Given the description of an element on the screen output the (x, y) to click on. 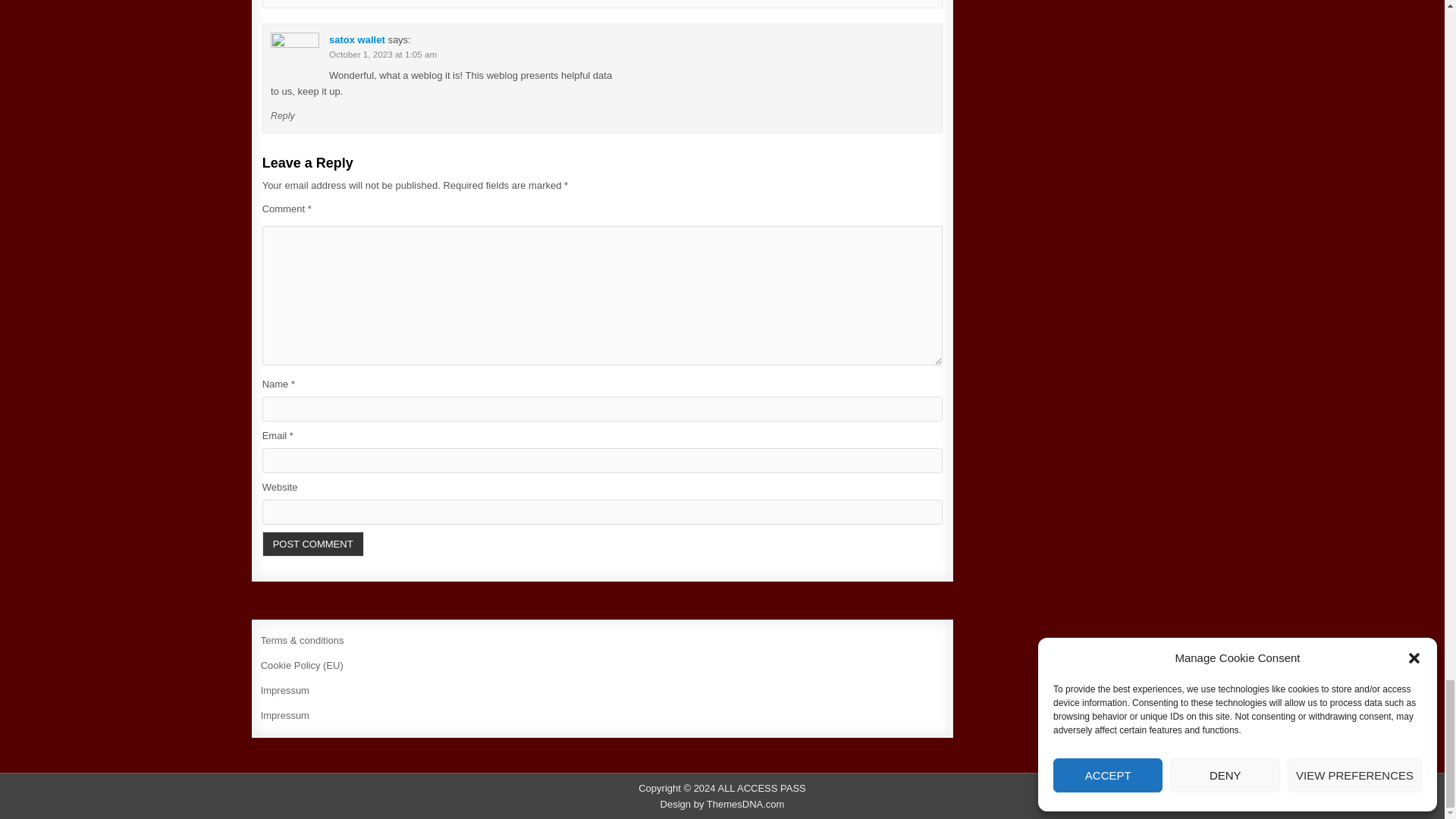
Post Comment (313, 543)
